Given the description of an element on the screen output the (x, y) to click on. 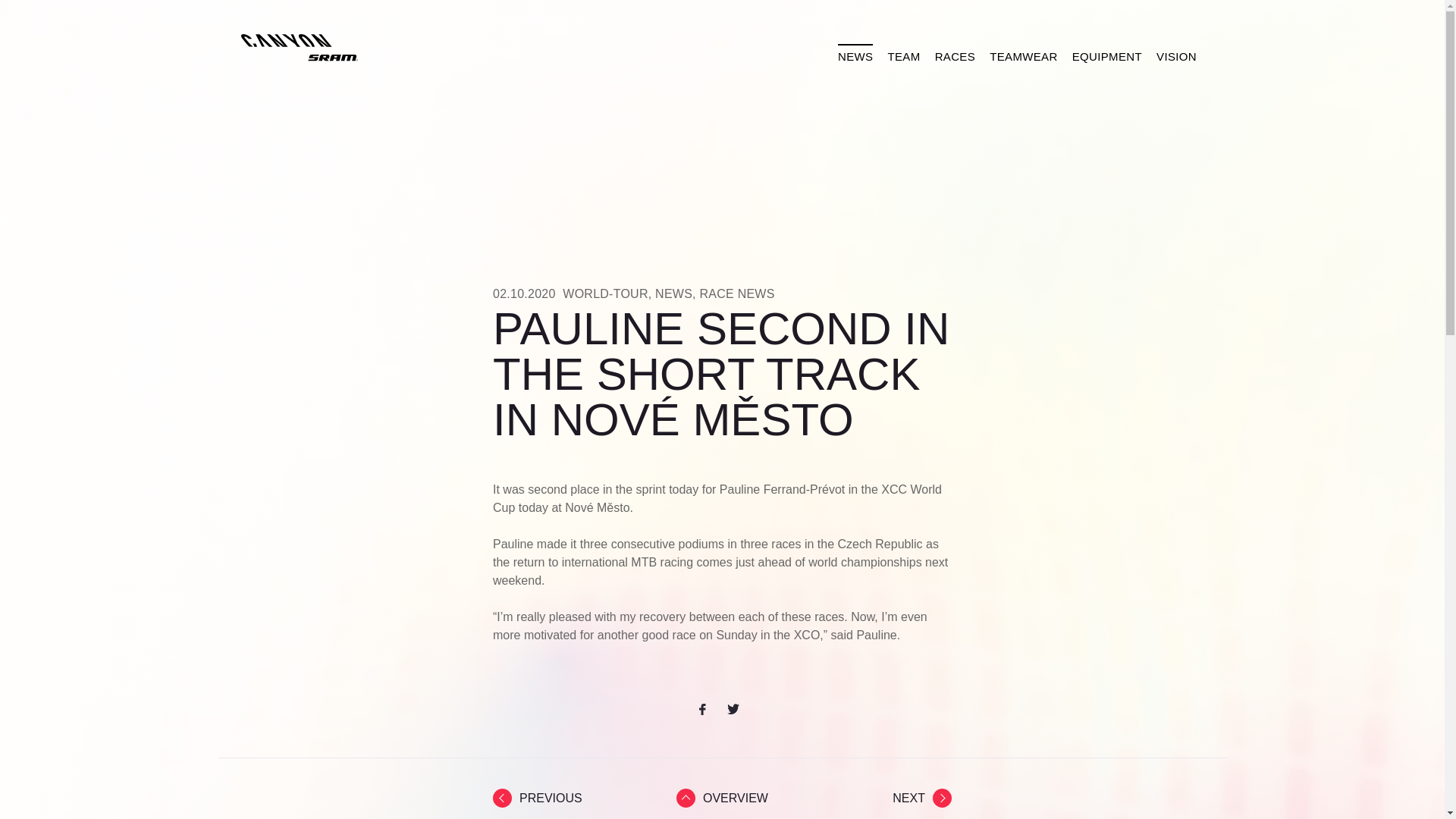
EQUIPMENT (1106, 55)
NEWS (854, 55)
VISION (1176, 55)
TEAMWEAR (1023, 55)
RACE NEWS (736, 293)
WORLD-TOUR (604, 293)
twitter (735, 709)
PREVIOUS (537, 797)
facebook (708, 709)
NEWS (674, 293)
NEXT (922, 797)
RACES (954, 55)
OVERVIEW (722, 797)
TEAM (903, 55)
